Given the description of an element on the screen output the (x, y) to click on. 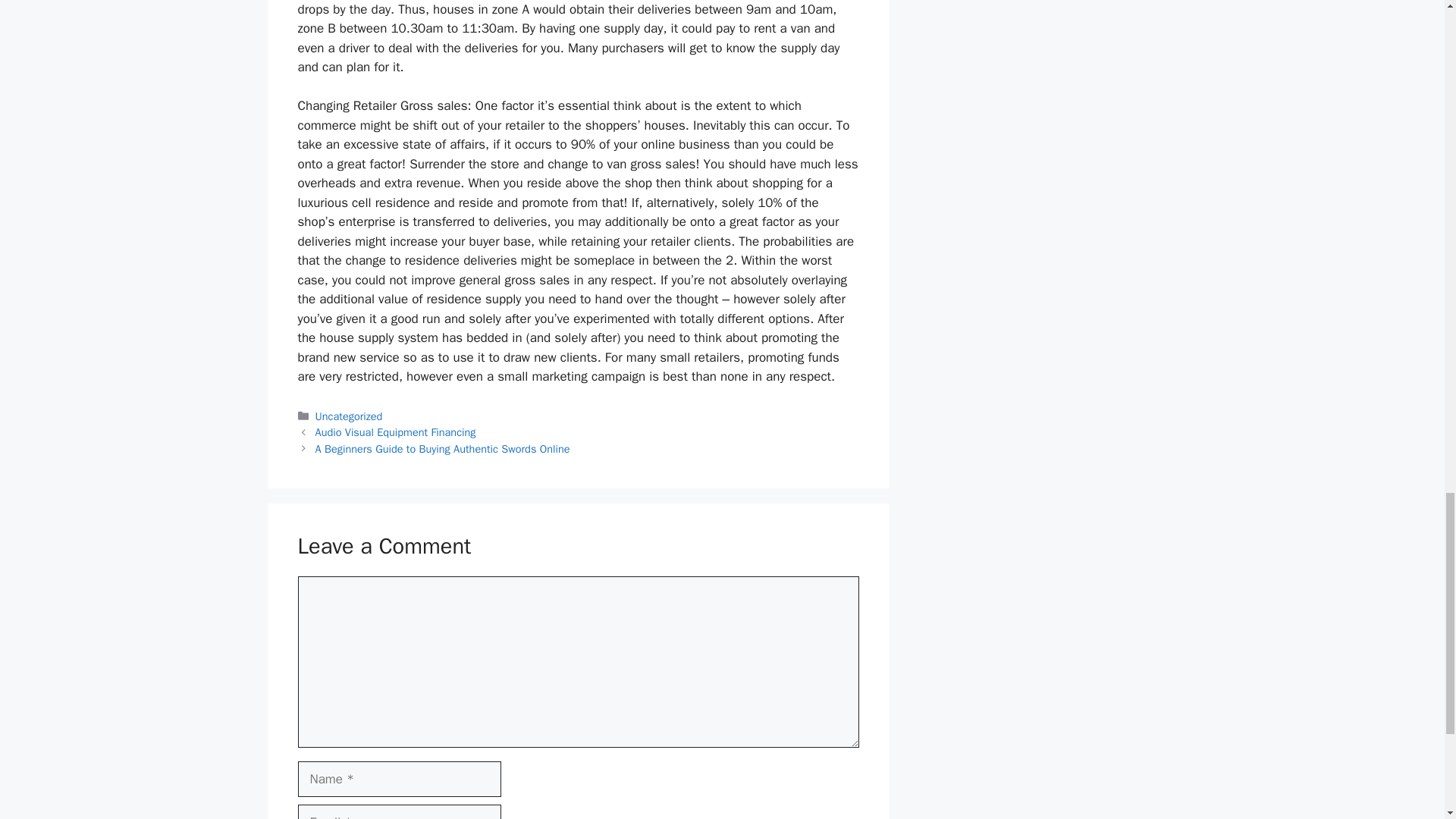
A Beginners Guide to Buying Authentic Swords Online (442, 448)
Audio Visual Equipment Financing (395, 431)
Next (442, 448)
Uncategorized (348, 416)
Previous (395, 431)
